Given the description of an element on the screen output the (x, y) to click on. 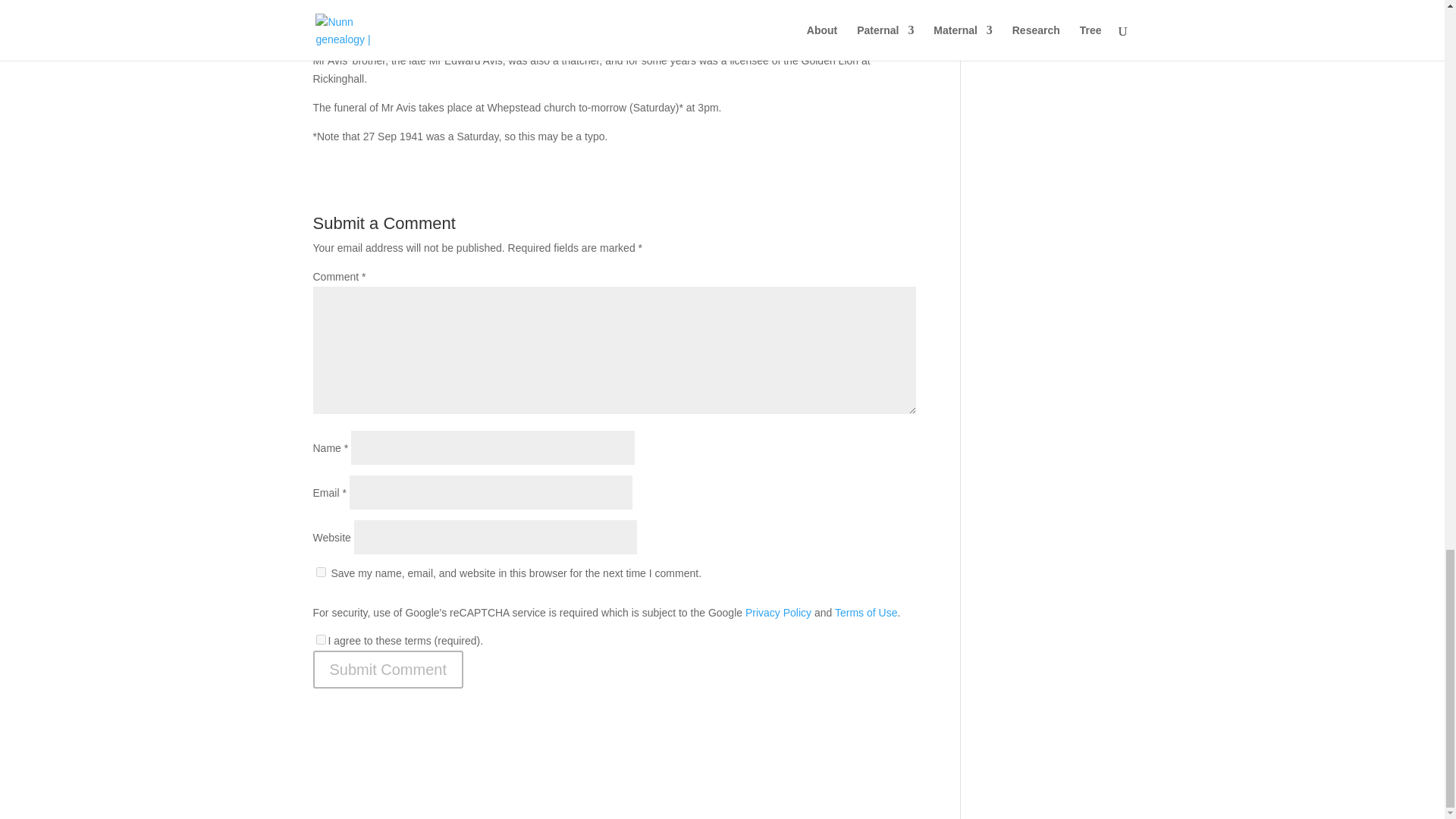
yes (319, 572)
on (319, 639)
Submit Comment (388, 669)
Privacy Policy (777, 612)
